Given the description of an element on the screen output the (x, y) to click on. 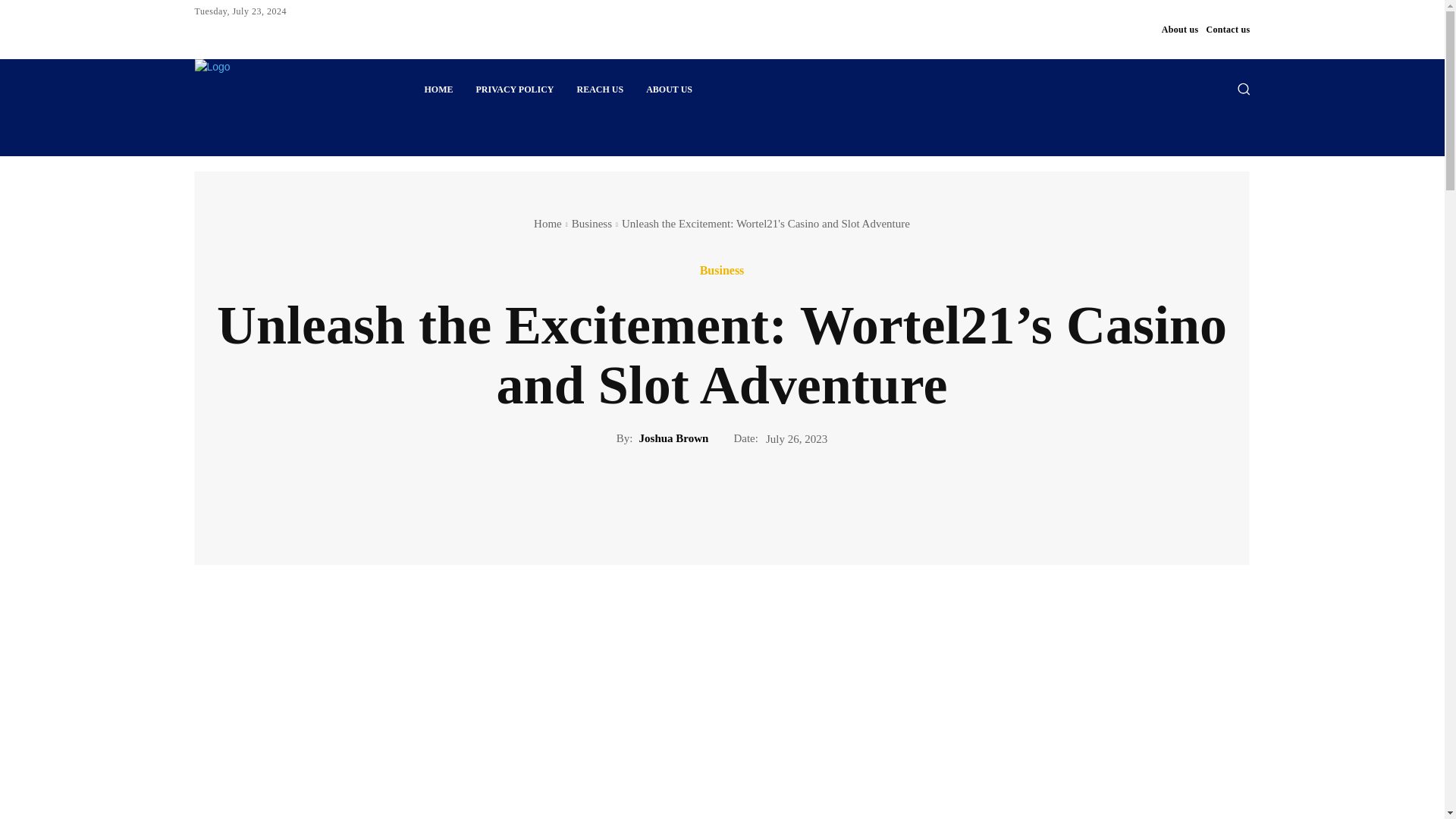
PRIVACY POLICY (514, 89)
Joshua Brown (674, 438)
ABOUT US (668, 89)
Contact us (1227, 29)
Business (591, 223)
HOME (438, 89)
Business (722, 270)
About us (1179, 29)
REACH US (600, 89)
View all posts in Business (591, 223)
Home (548, 223)
